Given the description of an element on the screen output the (x, y) to click on. 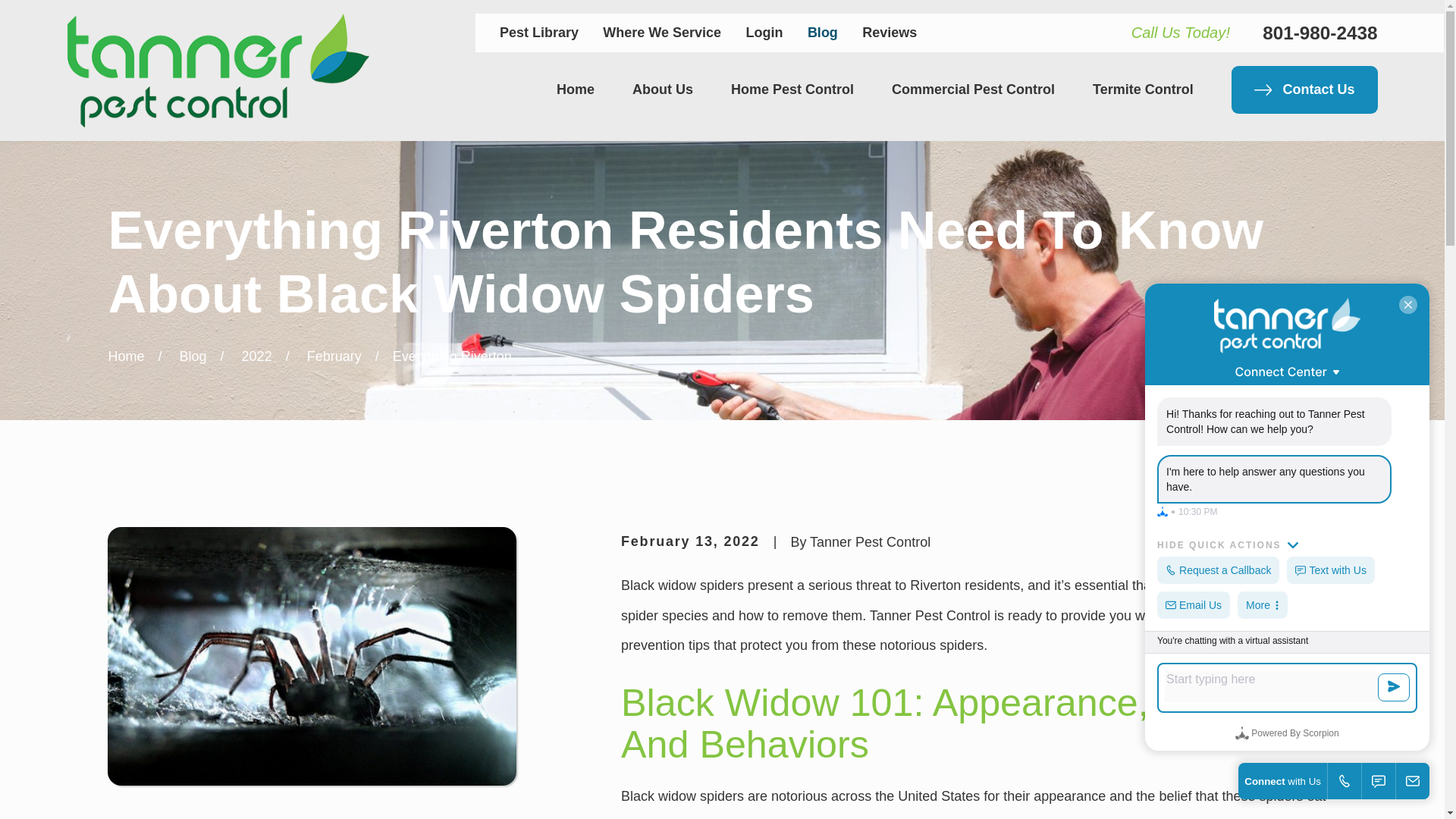
Home Pest Control (791, 89)
801-980-2438 (1319, 33)
Reviews (889, 32)
Termite Control (1143, 89)
Go Home (125, 355)
Login (764, 32)
About Us (662, 89)
Home (575, 89)
Home (217, 70)
Pest Library (538, 32)
Commercial Pest Control (972, 89)
Where We Service (661, 32)
Blog (823, 32)
